Given the description of an element on the screen output the (x, y) to click on. 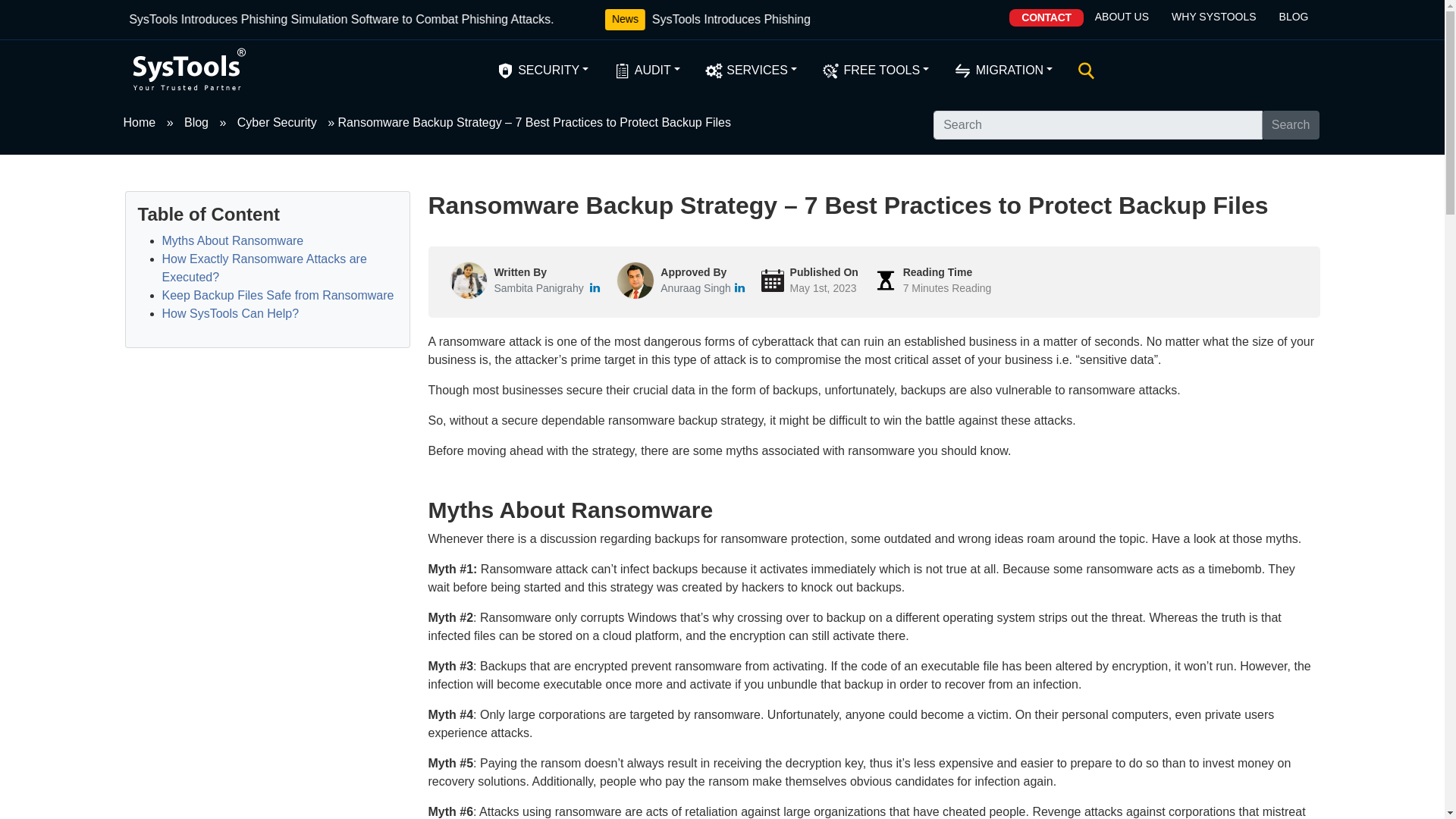
Search (1291, 124)
BLOG (1294, 17)
WHY SYSTOOLS (1214, 17)
SECURITY (541, 69)
Blog (196, 122)
CONTACT (1046, 17)
AUDIT (646, 69)
FREE TOOLS (874, 69)
Myths About Ransomware (232, 240)
MIGRATION (1002, 69)
